Given the description of an element on the screen output the (x, y) to click on. 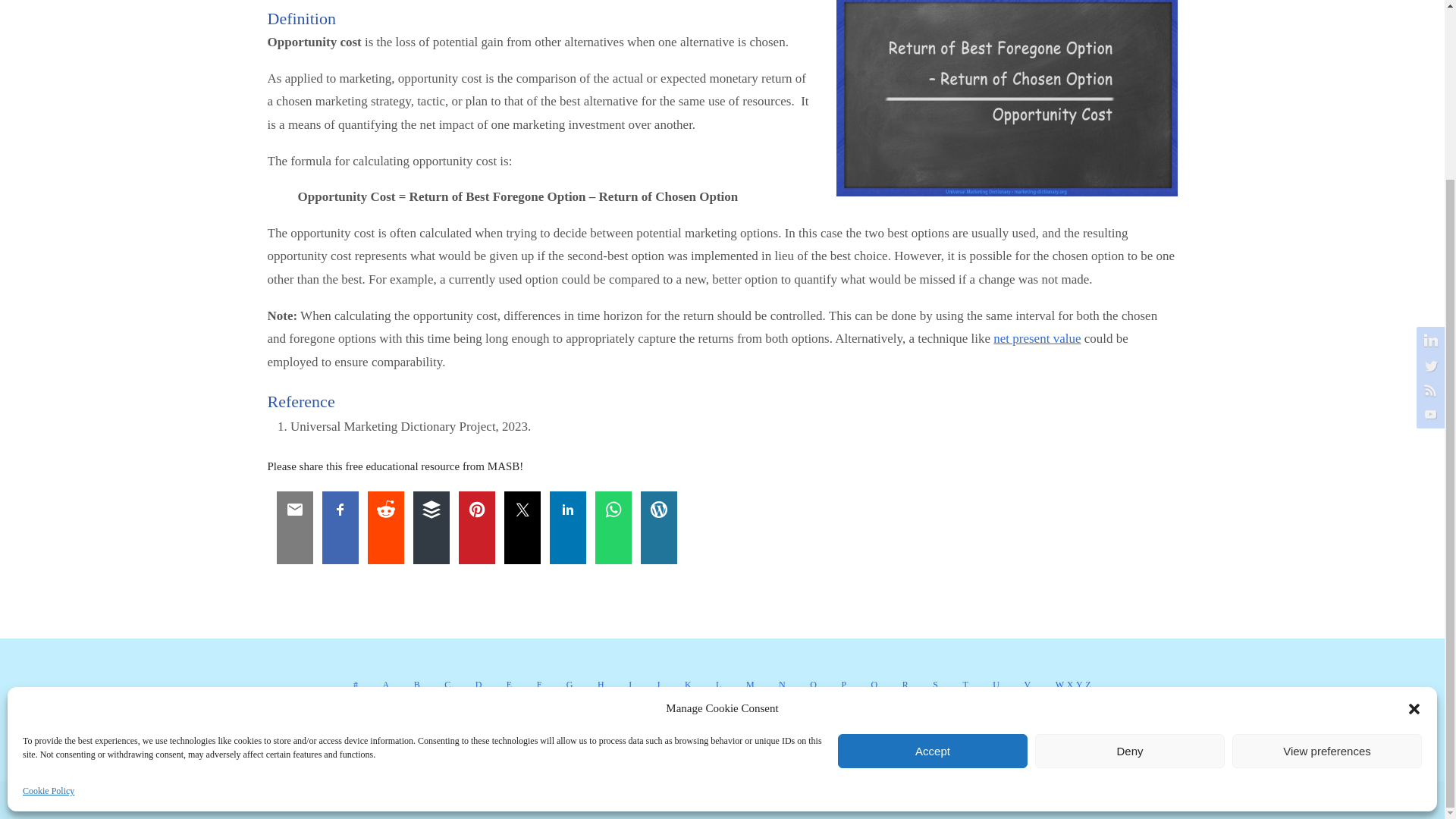
Cookie Policy (48, 571)
Accept (932, 530)
View preferences (1326, 530)
Deny (1129, 530)
